Given the description of an element on the screen output the (x, y) to click on. 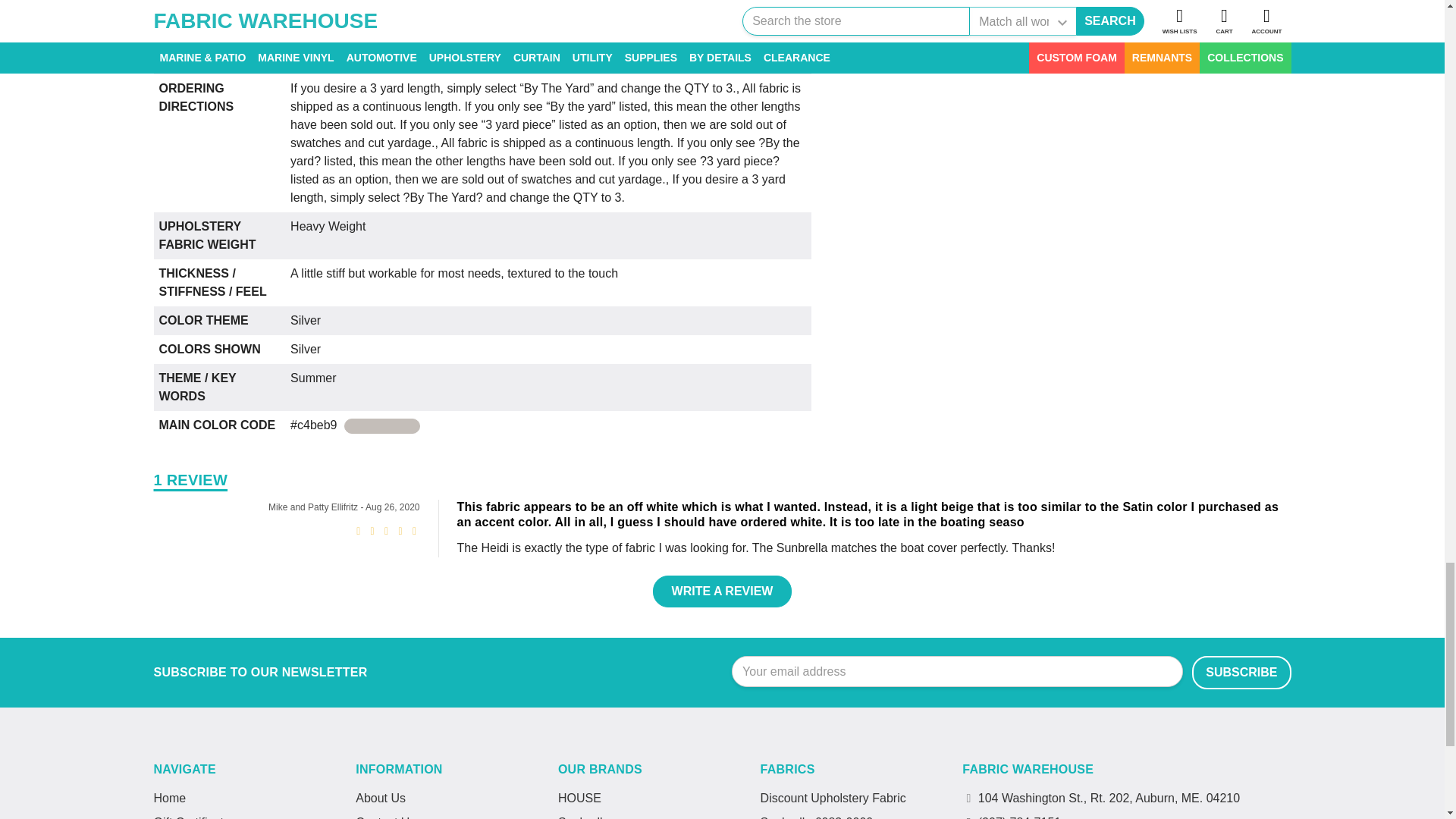
Subscribe (1241, 672)
